Given the description of an element on the screen output the (x, y) to click on. 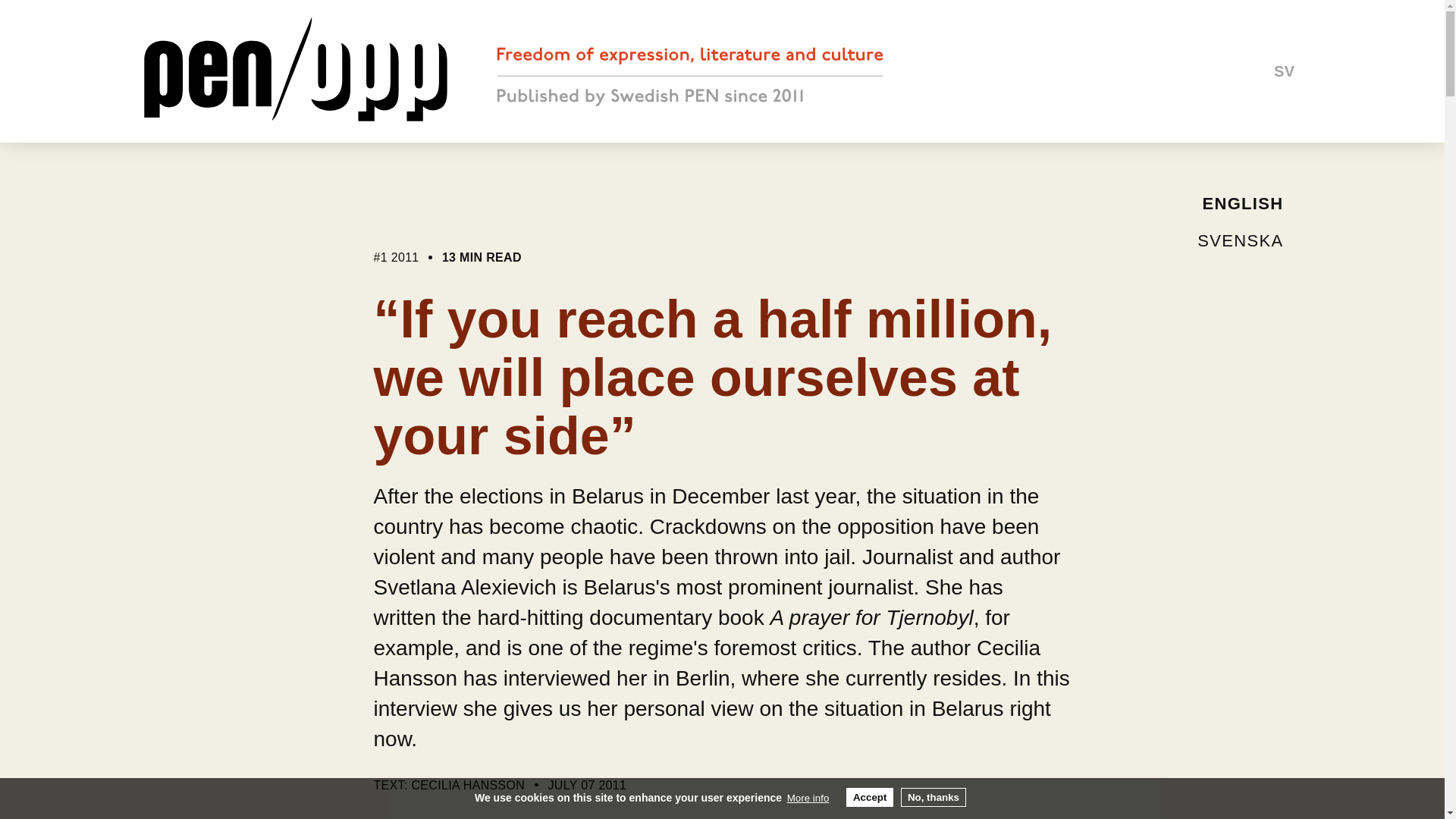
More info (808, 797)
No, thanks (933, 796)
Accept (869, 796)
MENU (79, 70)
SV (1284, 71)
SEARCH (1342, 71)
SVENSKA (1239, 240)
